Given the description of an element on the screen output the (x, y) to click on. 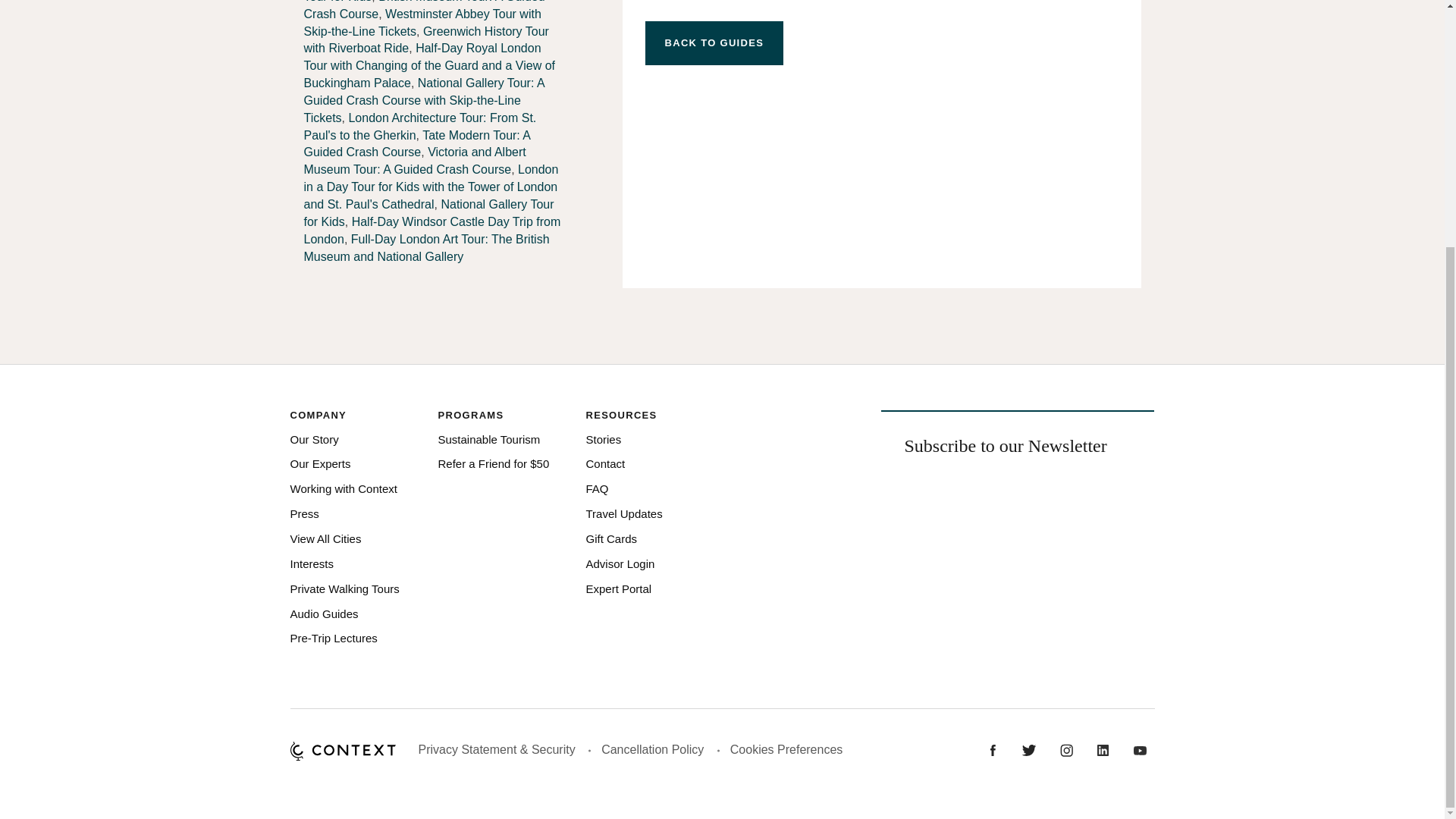
instagram (1066, 750)
linkedin (1102, 750)
twitter (1028, 750)
facebook (992, 750)
youtube (1139, 750)
